Given the description of an element on the screen output the (x, y) to click on. 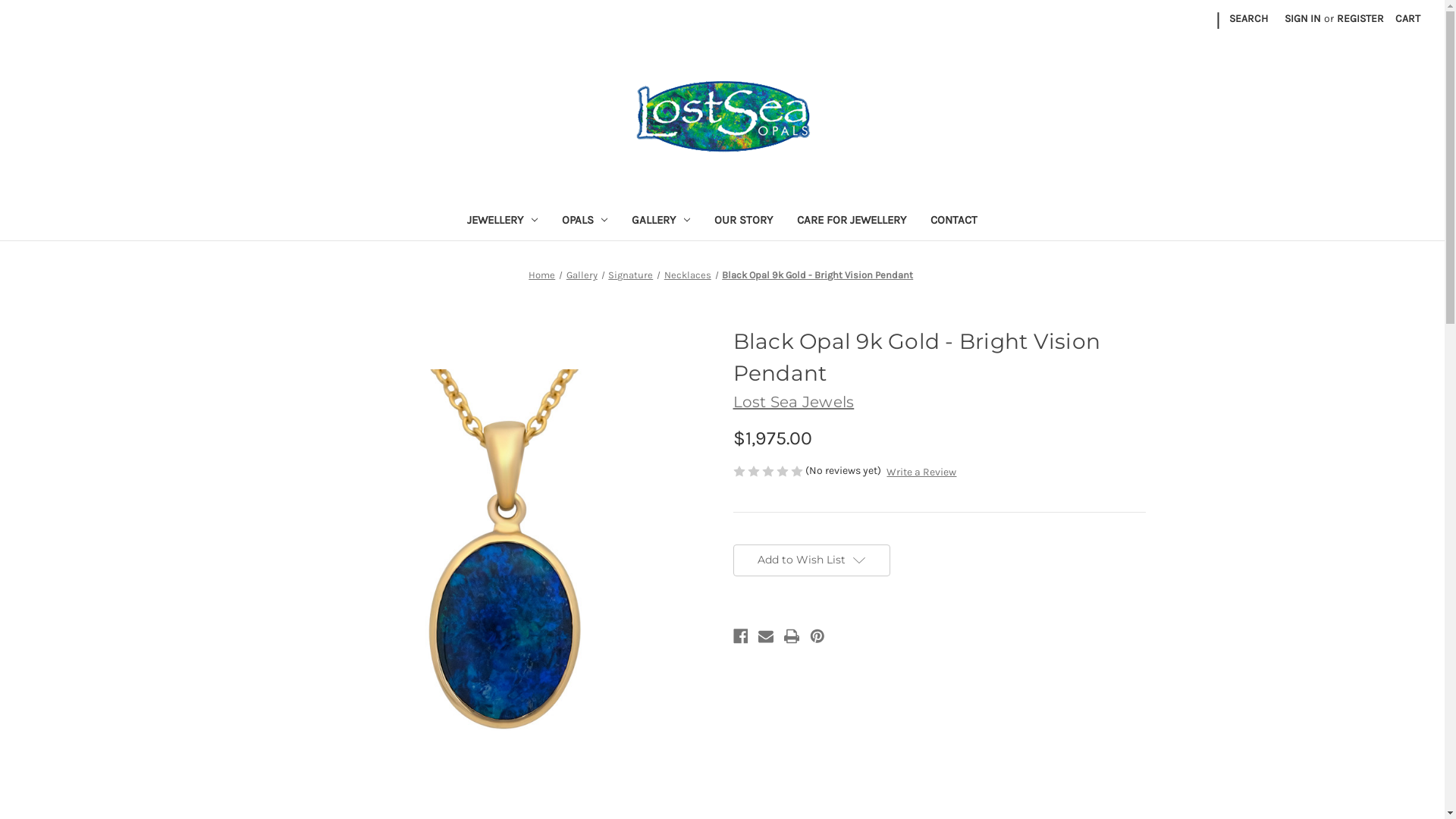
Lost Sea Opals Element type: hover (721, 117)
OUR STORY Element type: text (743, 221)
Signature Element type: text (630, 274)
SEARCH Element type: text (1248, 18)
Lost Sea Jewels Element type: text (792, 401)
Facebook Element type: hover (739, 635)
GALLERY Element type: text (660, 221)
Gallery Element type: text (581, 274)
Write a Review Element type: text (921, 472)
Pinterest Element type: hover (817, 635)
CARE FOR JEWELLERY Element type: text (851, 221)
REGISTER Element type: text (1360, 18)
JEWELLERY Element type: text (502, 221)
CONTACT Element type: text (953, 221)
Email Element type: hover (765, 635)
Add to Wish List Element type: text (811, 560)
Necklaces Element type: text (687, 274)
Black Opal Pendant- Lost sea Opals Element type: hover (504, 559)
SIGN IN Element type: text (1302, 18)
Home Element type: text (541, 274)
CART Element type: text (1407, 18)
OPALS Element type: text (584, 221)
Black Opal 9k Gold - Bright Vision Pendant Element type: text (817, 274)
Print Element type: hover (791, 635)
